Given the description of an element on the screen output the (x, y) to click on. 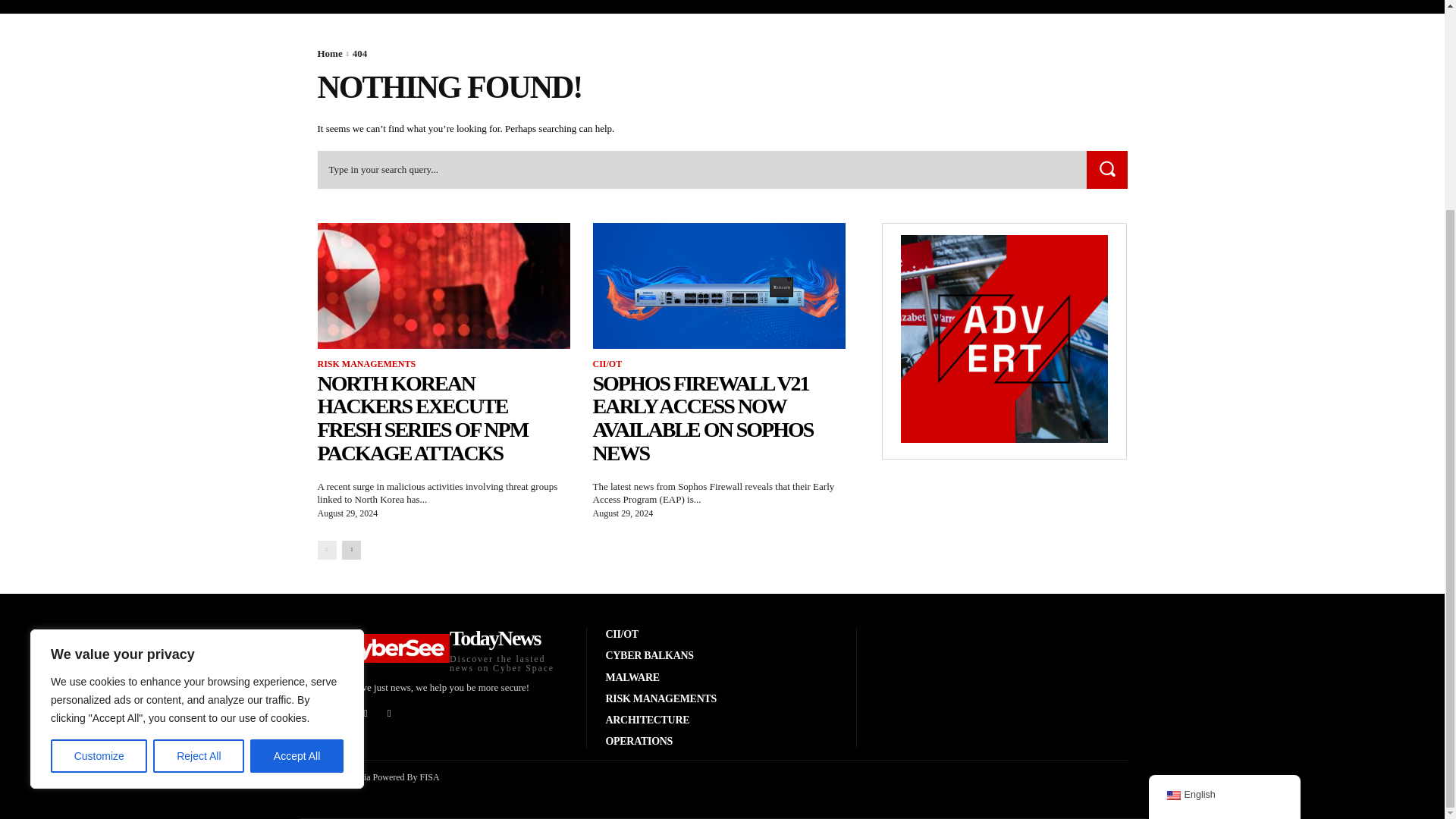
Reject All (198, 482)
Accept All (296, 482)
Customize (98, 482)
